Given the description of an element on the screen output the (x, y) to click on. 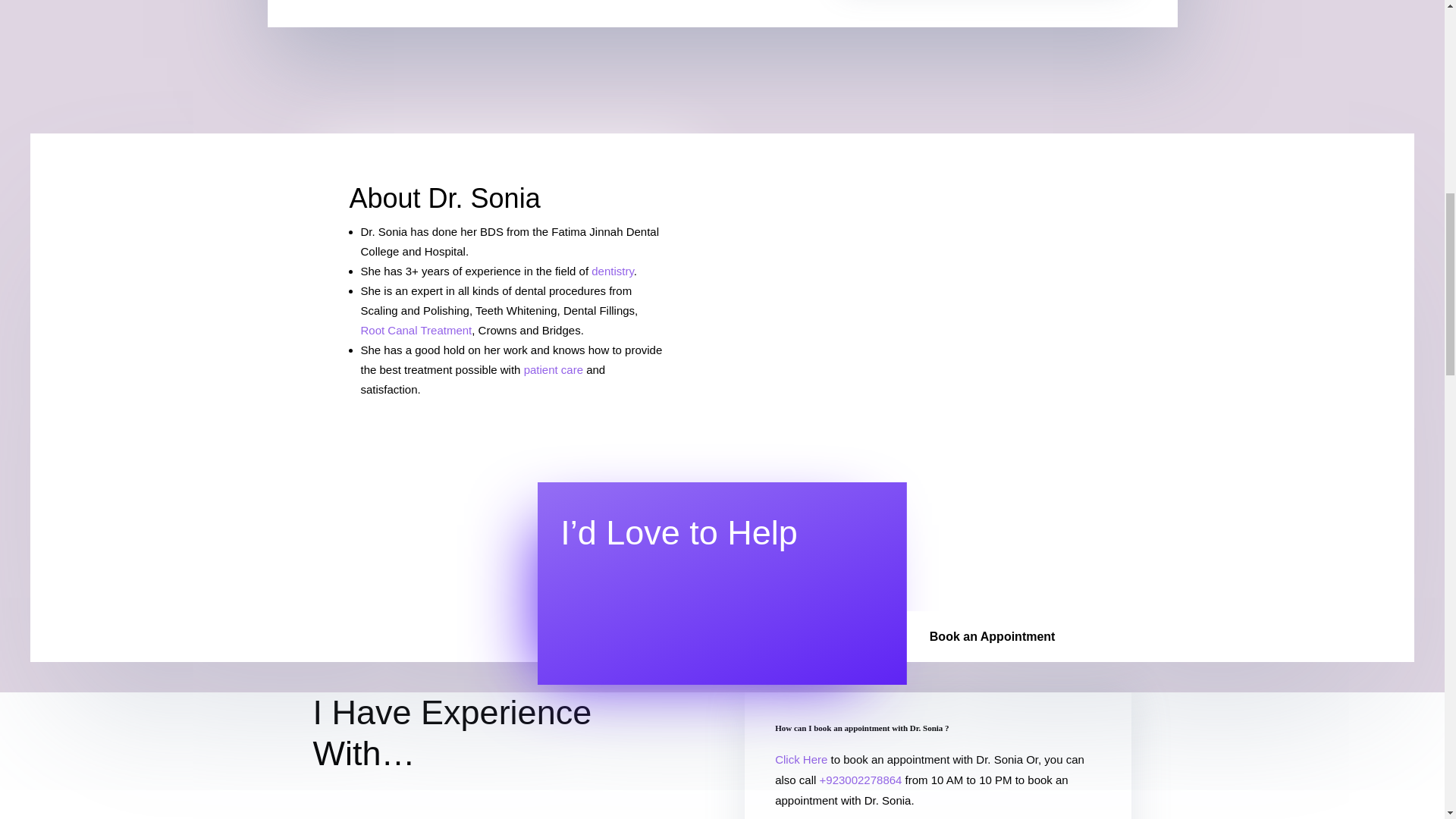
dentistry (612, 270)
patient care (553, 369)
Root Canal Treatment (416, 329)
Book an Appointment (992, 635)
